Given the description of an element on the screen output the (x, y) to click on. 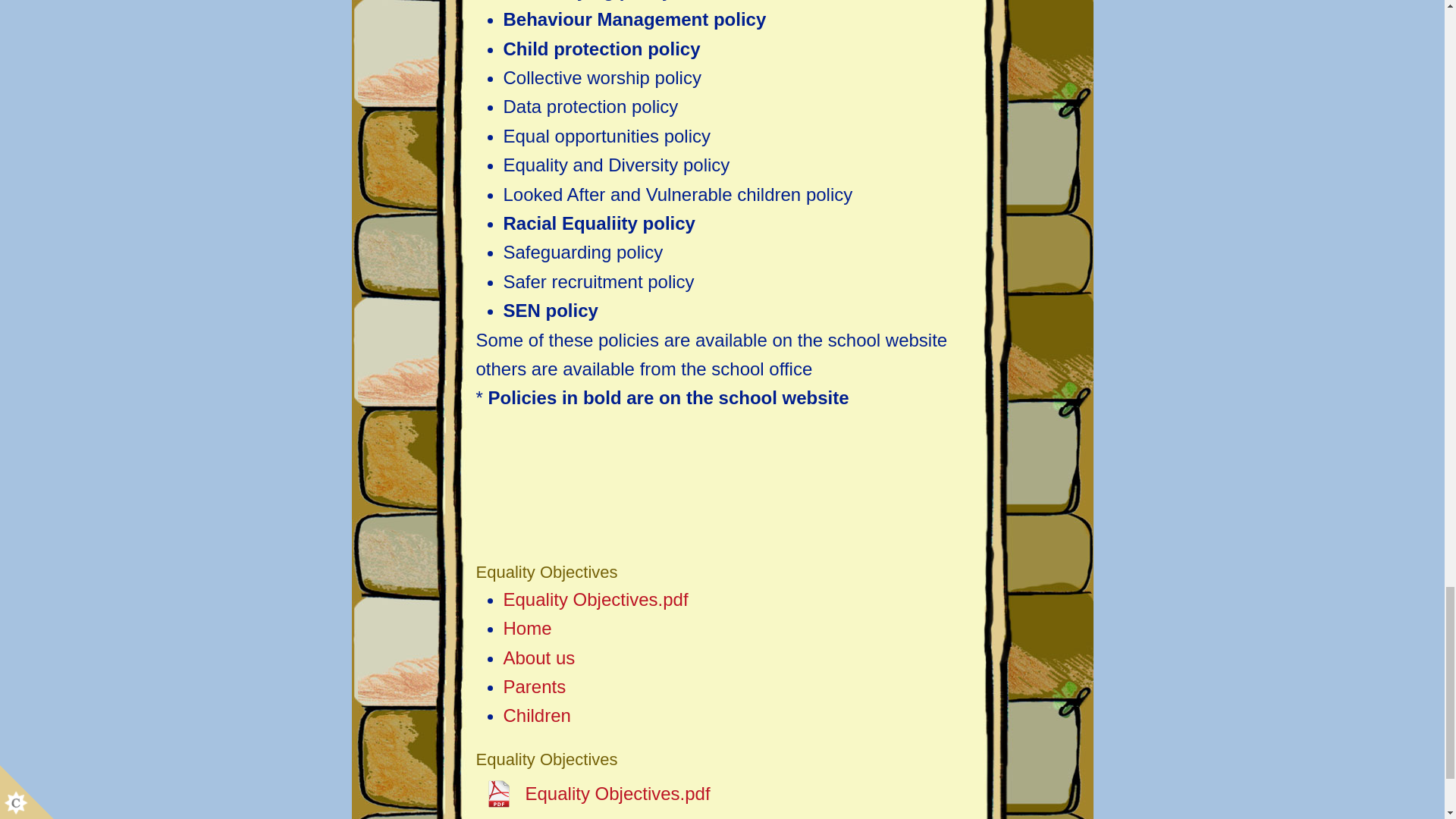
Parents (534, 686)
Equality Objectives.pdf (593, 793)
Equality Objectives.pdf (595, 598)
About us (539, 657)
Children (536, 715)
Home (527, 628)
